Given the description of an element on the screen output the (x, y) to click on. 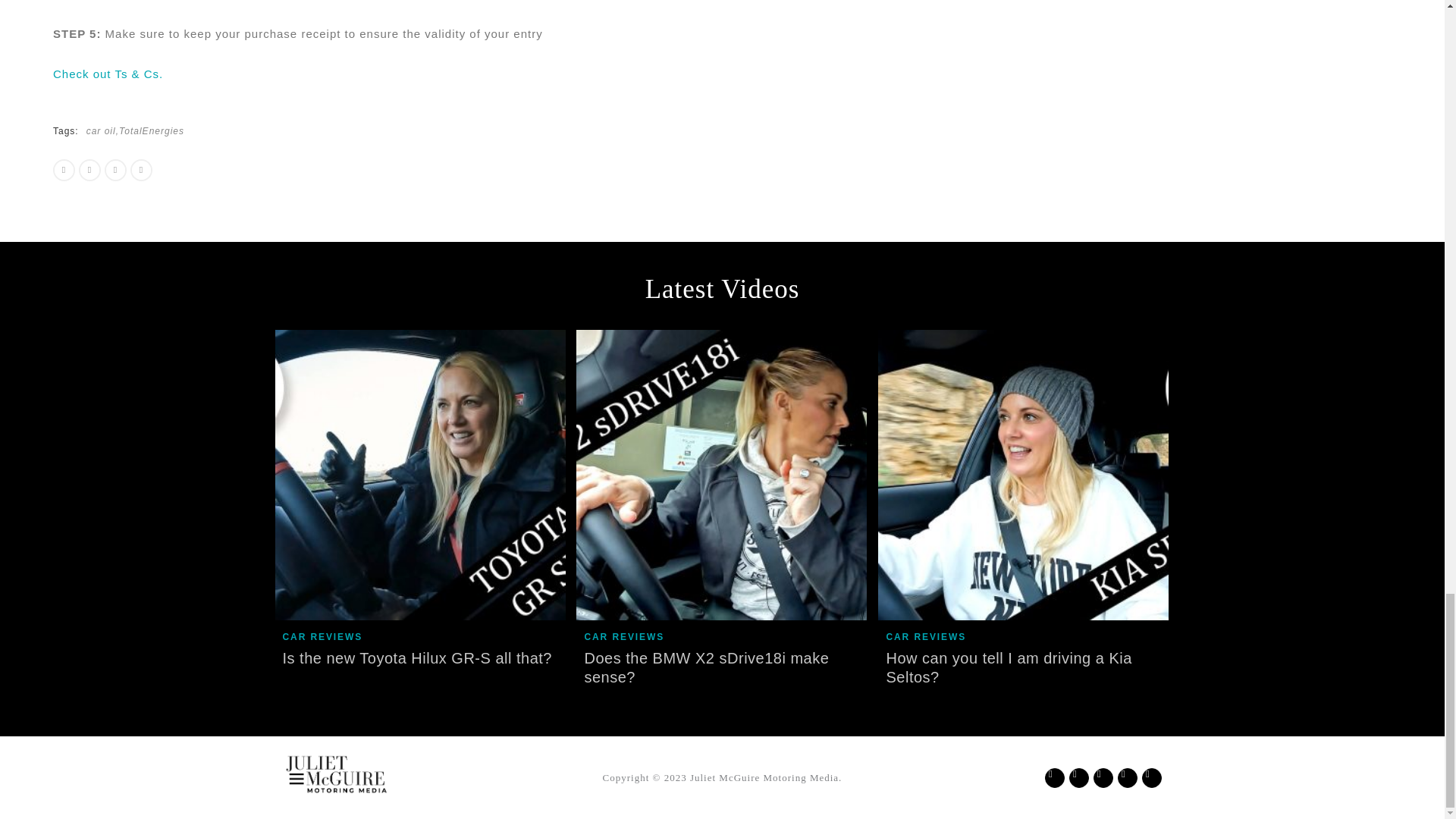
Facebook (324, 134)
Quartz Lubricants range (328, 123)
Instagram (257, 166)
Twitter (391, 119)
Online Lubricants Catalogue (634, 31)
